Given the description of an element on the screen output the (x, y) to click on. 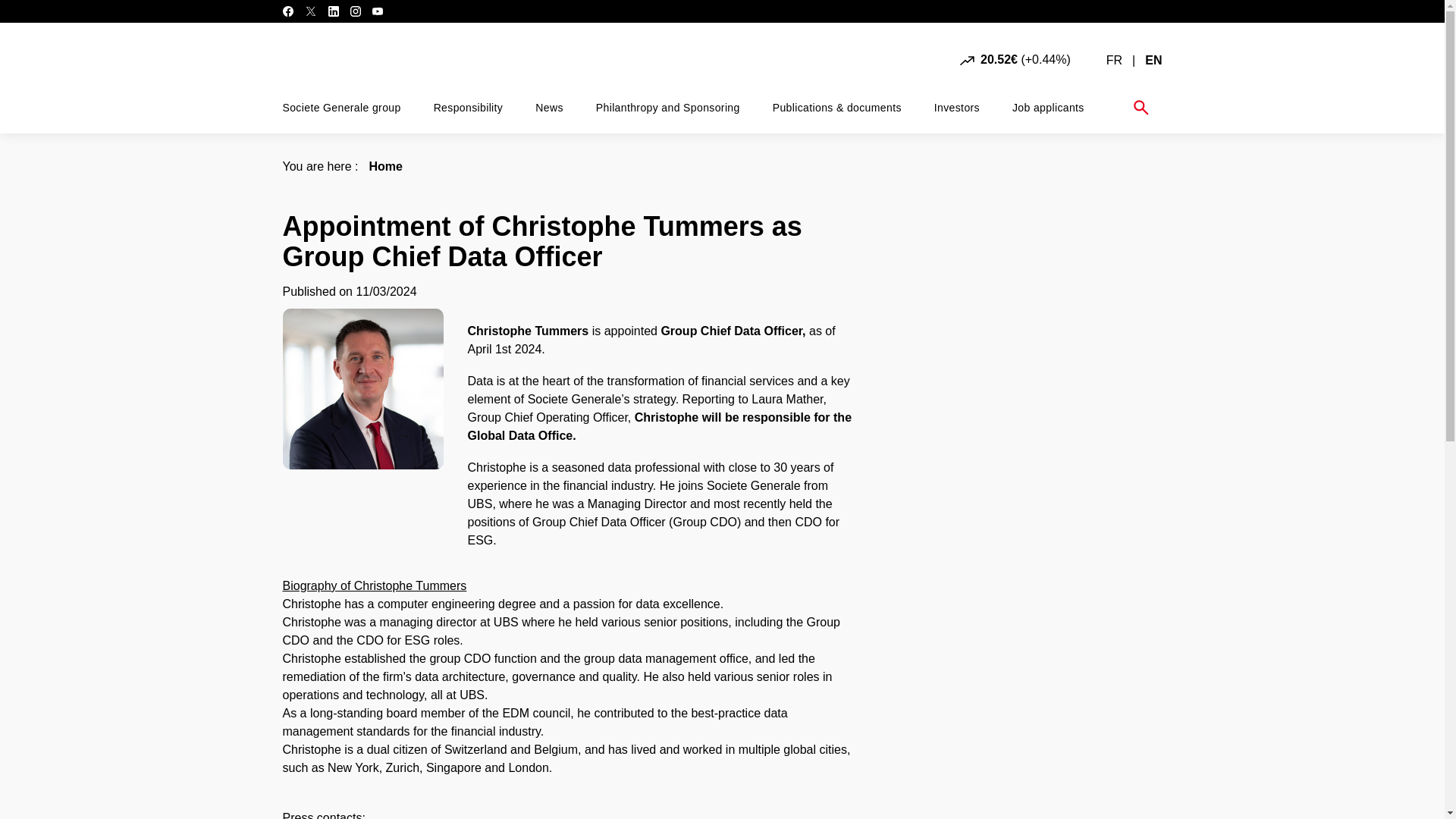
EN (1152, 60)
Societe Generale group (341, 107)
FR (1114, 60)
Responsibility (468, 107)
